Given the description of an element on the screen output the (x, y) to click on. 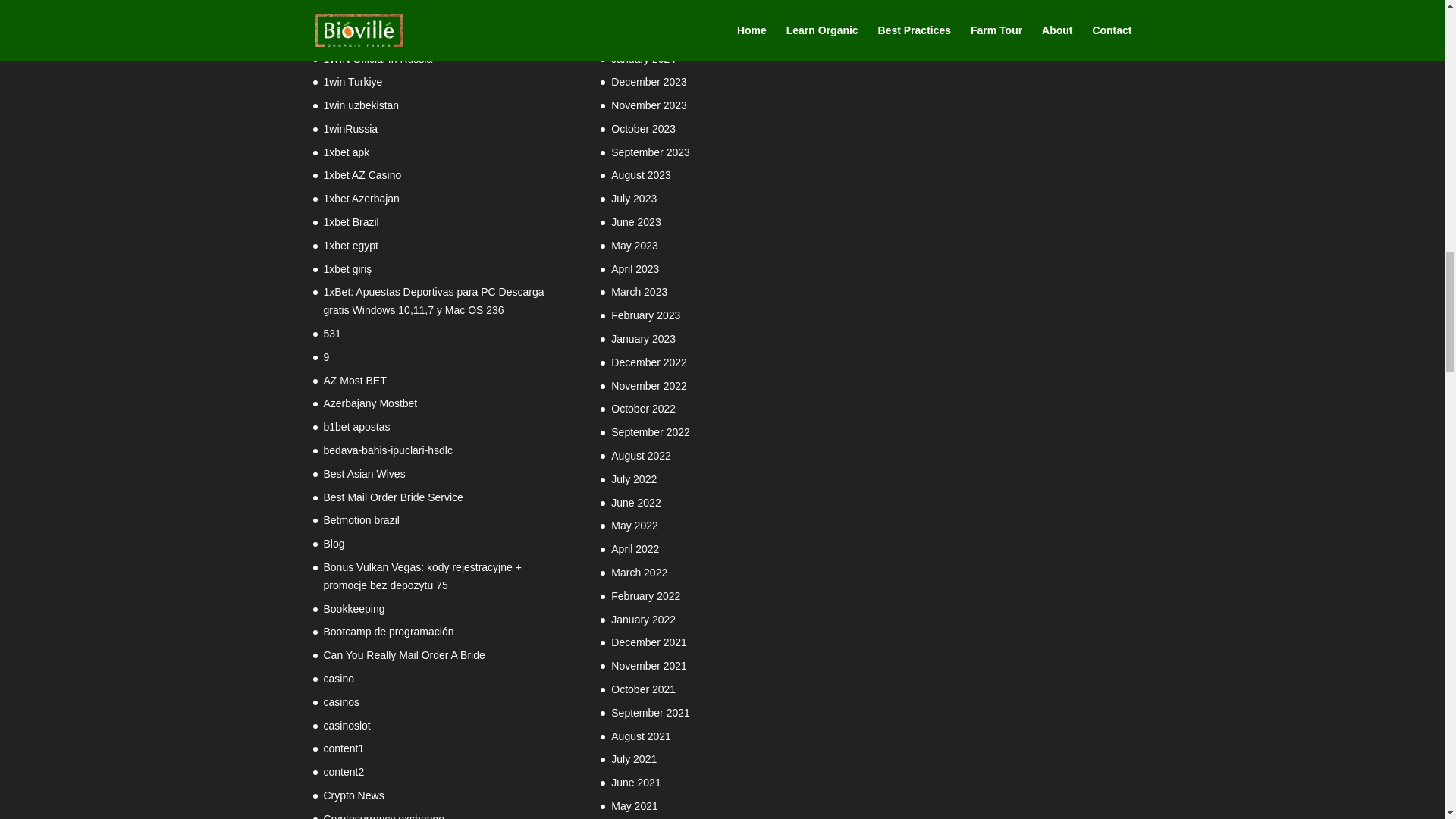
1WIN Official In Russia (377, 59)
1win Turkiye (352, 81)
531 (331, 333)
1win uzbekistan (360, 105)
1xbet apk (346, 152)
1Win Brasil (350, 11)
1xbet egypt (350, 245)
1xbet Brazil (350, 222)
1xbet Azerbajan (360, 198)
1WIN Casino Brasil (368, 35)
1xbet AZ Casino (362, 174)
1winRussia (350, 128)
